Given the description of an element on the screen output the (x, y) to click on. 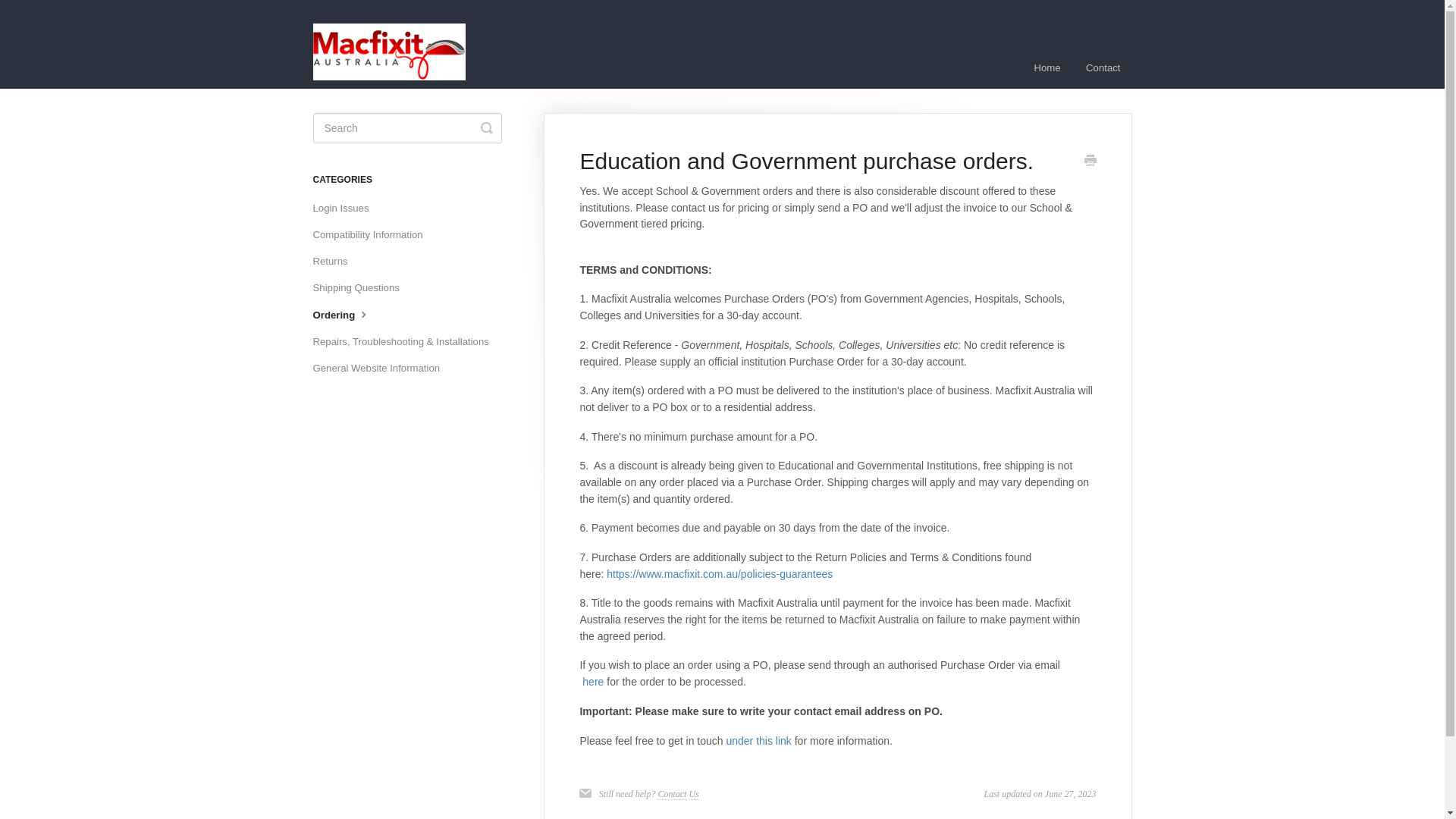
Contact (1102, 67)
Compatibility Information (373, 234)
here  (594, 681)
Home (1047, 67)
Shipping Questions (361, 288)
Returns (335, 261)
search-query (406, 128)
General Website Information (382, 368)
Login Issues (346, 208)
Contact Us (678, 794)
under this link (757, 739)
Ordering (347, 314)
